Given the description of an element on the screen output the (x, y) to click on. 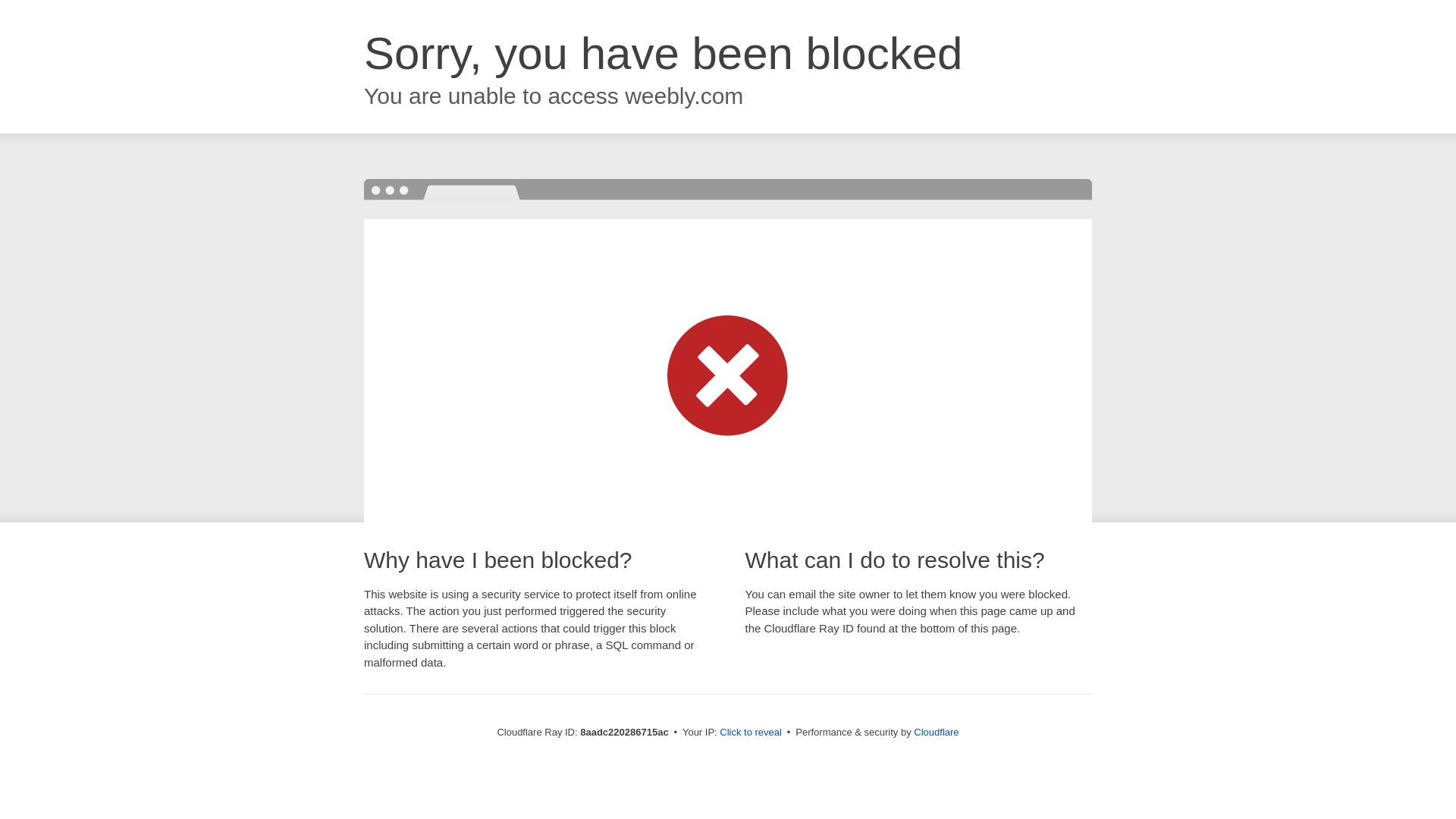
Click to reveal (750, 732)
Cloudflare (936, 731)
